Given the description of an element on the screen output the (x, y) to click on. 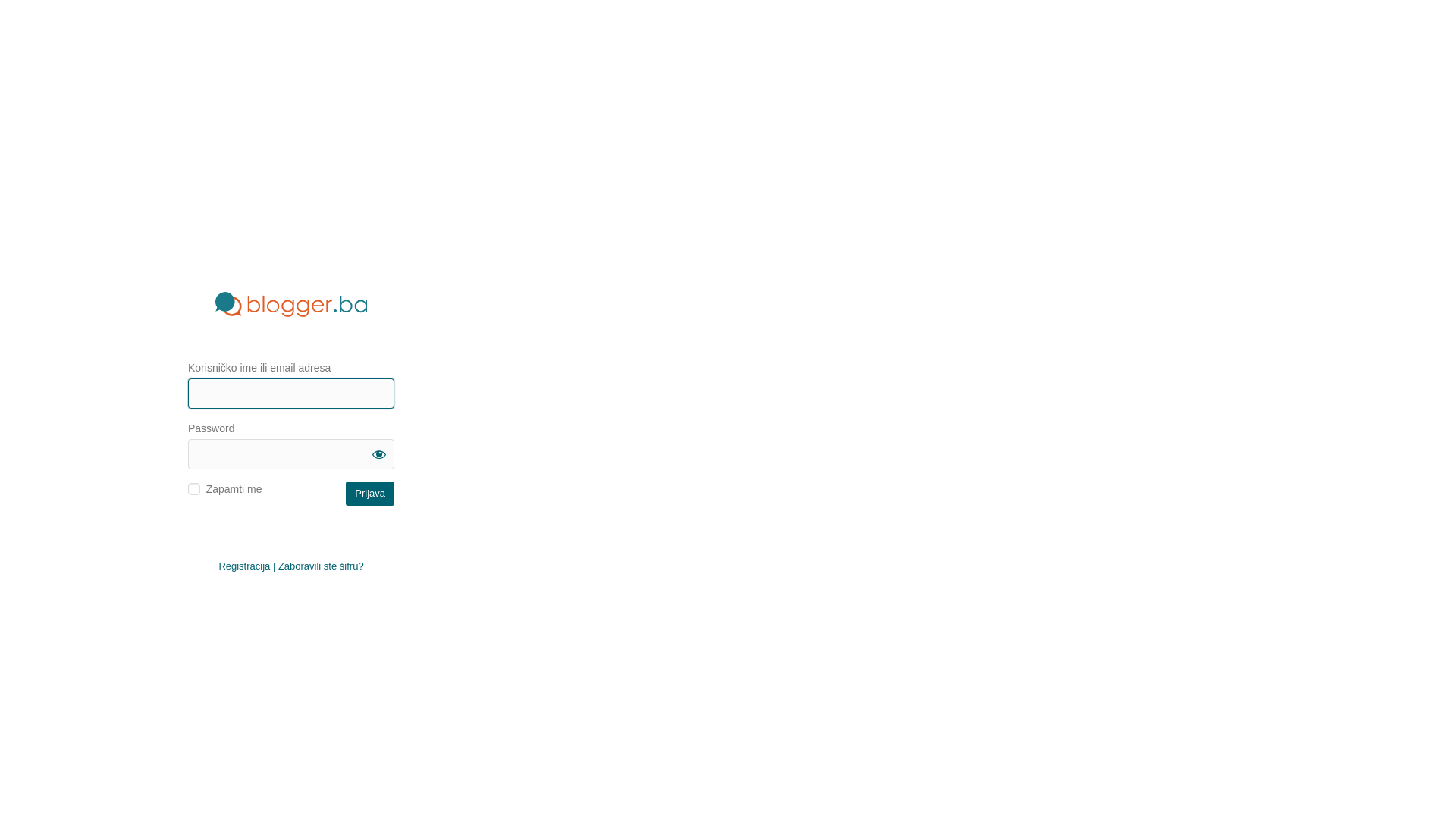
Prijava Element type: text (369, 493)
Registracija Element type: text (243, 565)
